Given the description of an element on the screen output the (x, y) to click on. 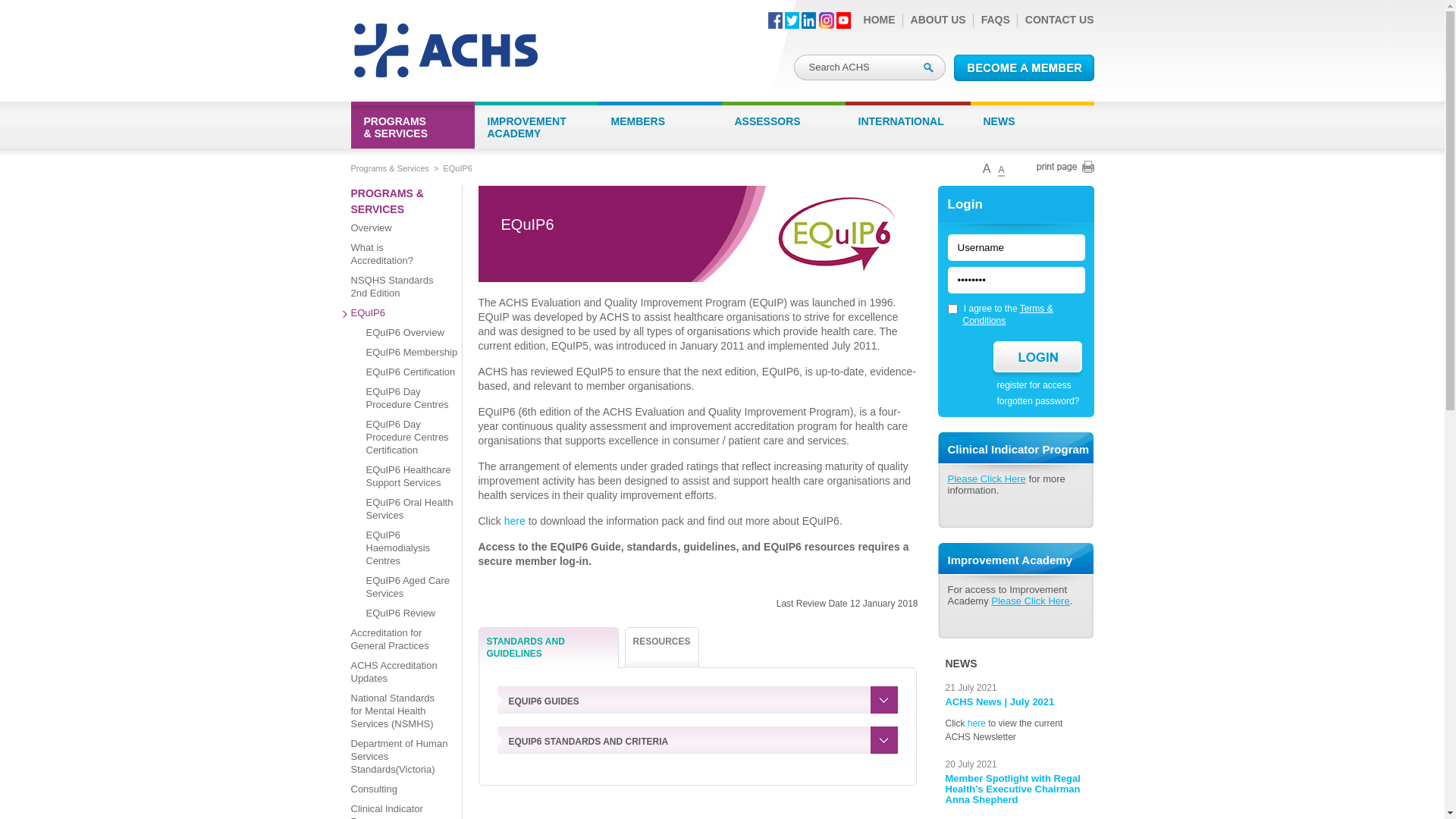
EQuIP6 Haemodialysis Centres Element type: text (410, 551)
login Element type: text (1036, 356)
EQuIP6 Day Procedure Centres Element type: text (410, 401)
EQuIP6 Aged Care Services Element type: text (410, 590)
ABOUT US Element type: text (938, 20)
NSQHS Standards 2nd Edition Element type: text (395, 289)
PROGRAMS
& SERVICES Element type: text (411, 129)
here Element type: text (514, 520)
HOME Element type: text (879, 20)
EQuIP6 Certification Element type: text (410, 375)
search Element type: hover (928, 67)
Overview Element type: text (395, 231)
NEWS Element type: text (1032, 129)
National Standards for Mental Health Services (NSMHS) Element type: text (395, 714)
EQuIP6 Membership Element type: text (410, 355)
become a member Element type: hover (1023, 67)
ACHS News | July 2021 Element type: text (999, 701)
PROGRAMS & SERVICES Element type: text (395, 201)
Please Click Here Element type: text (1030, 600)
register for access Element type: text (1028, 384)
ACHS Accreditation Updates Element type: text (395, 674)
forgotten password? Element type: text (1033, 400)
Programs & Services Element type: text (389, 167)
EQuIP6 Overview Element type: text (410, 335)
Consulting Element type: text (395, 792)
IMPROVEMENT
ACADEMY Element type: text (536, 129)
Accreditation for General Practices Element type: text (395, 642)
RESOURCES Element type: text (661, 647)
INTERNATIONAL Element type: text (906, 129)
ASSESSORS Element type: text (783, 129)
A Element type: text (986, 168)
A Element type: text (1000, 169)
STANDARDS AND GUIDELINES Element type: text (547, 647)
EQuIP6 Review Element type: text (410, 616)
EQuIP6 Oral Health Services Element type: text (410, 511)
here Element type: text (976, 723)
EQuIP6 Day Procedure Centres Certification Element type: text (410, 440)
EQuIP6 Healthcare Support Services Element type: text (410, 479)
MEMBERS Element type: text (659, 129)
What is Accreditation? Element type: text (395, 257)
Please Click Here Element type: text (986, 478)
FAQS Element type: text (995, 20)
Department of Human Services Standards(Victoria) Element type: text (395, 759)
Terms & Conditions Element type: text (1008, 314)
CONTACT US Element type: text (1059, 20)
EQuIP6 Element type: text (395, 316)
